Given the description of an element on the screen output the (x, y) to click on. 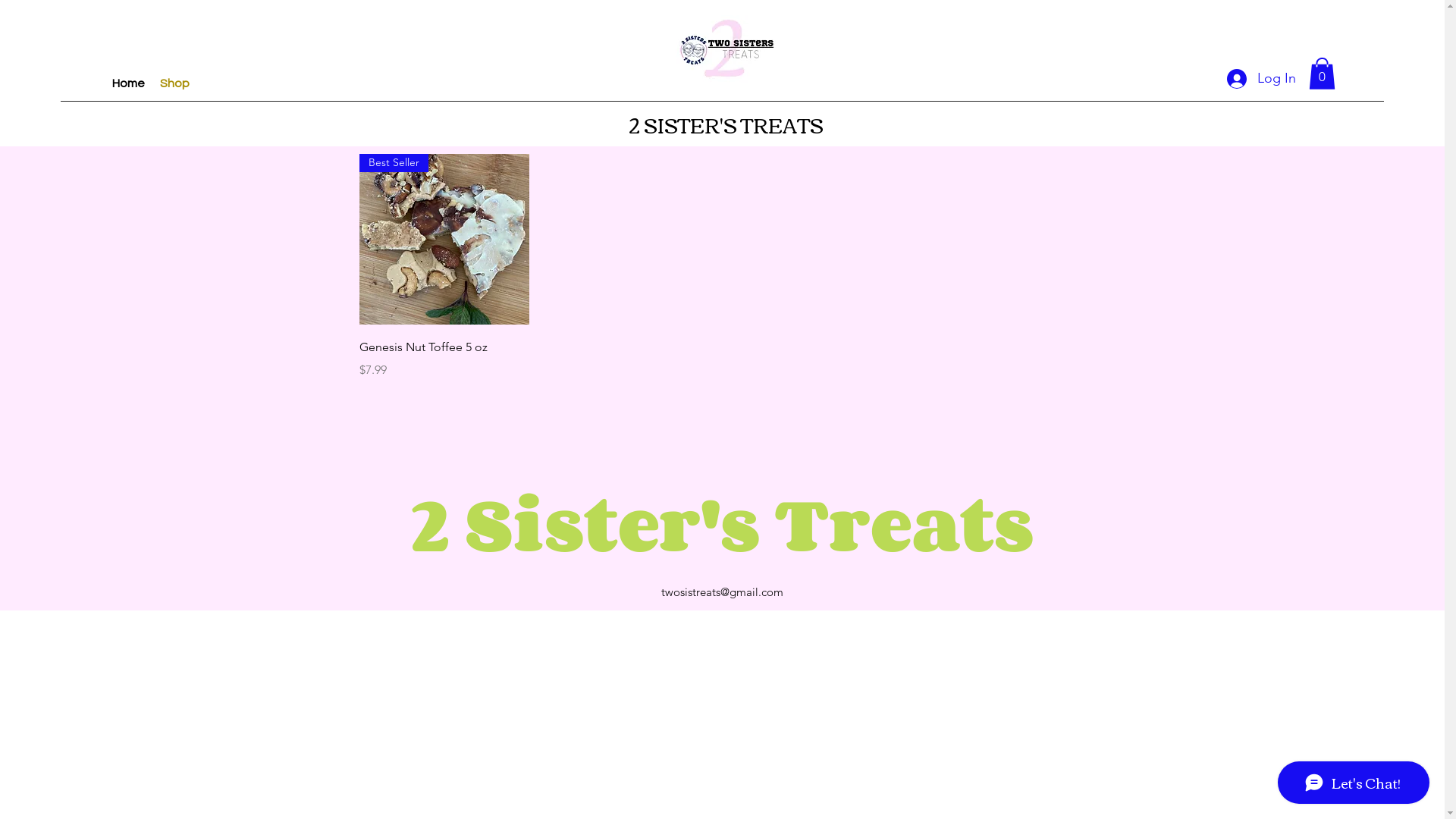
Shop Element type: text (174, 83)
Home Element type: text (128, 83)
Genesis Nut Toffee 5 oz
Price
$7.99 Element type: text (444, 357)
0 Element type: text (1321, 73)
Log In Element type: text (1247, 78)
Best Seller Element type: text (444, 238)
twosistreats@gmail.com Element type: text (722, 591)
